Given the description of an element on the screen output the (x, y) to click on. 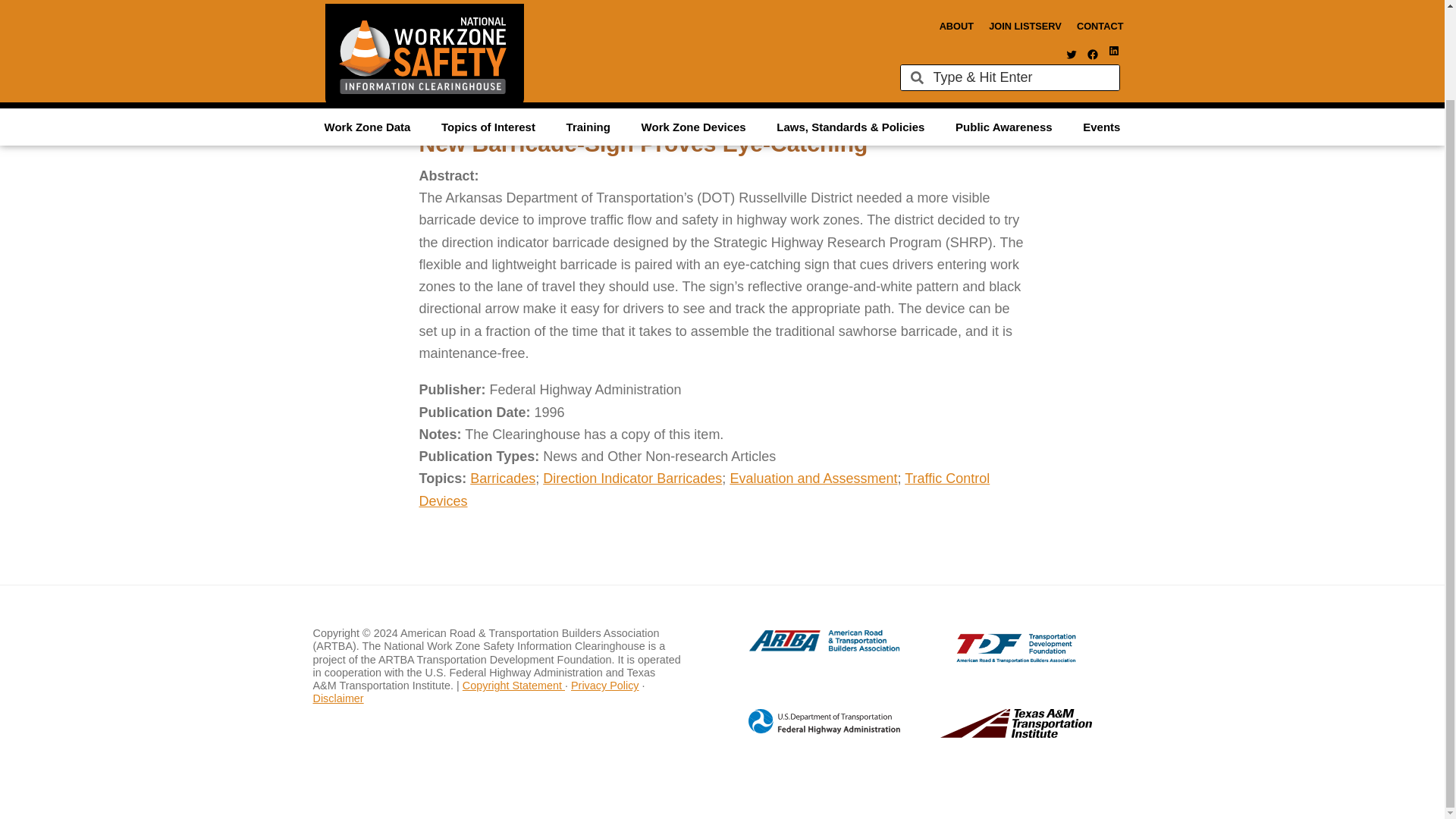
Work Zone Data (367, 23)
Training (587, 23)
Events (1101, 23)
Topics of Interest (488, 23)
Work Zone Devices (693, 23)
Barricades (502, 478)
FHWA website (808, 731)
Public Awareness (1003, 23)
ARTBA website (808, 649)
ARTBA Transportation Development Foundation website (985, 658)
